Given the description of an element on the screen output the (x, y) to click on. 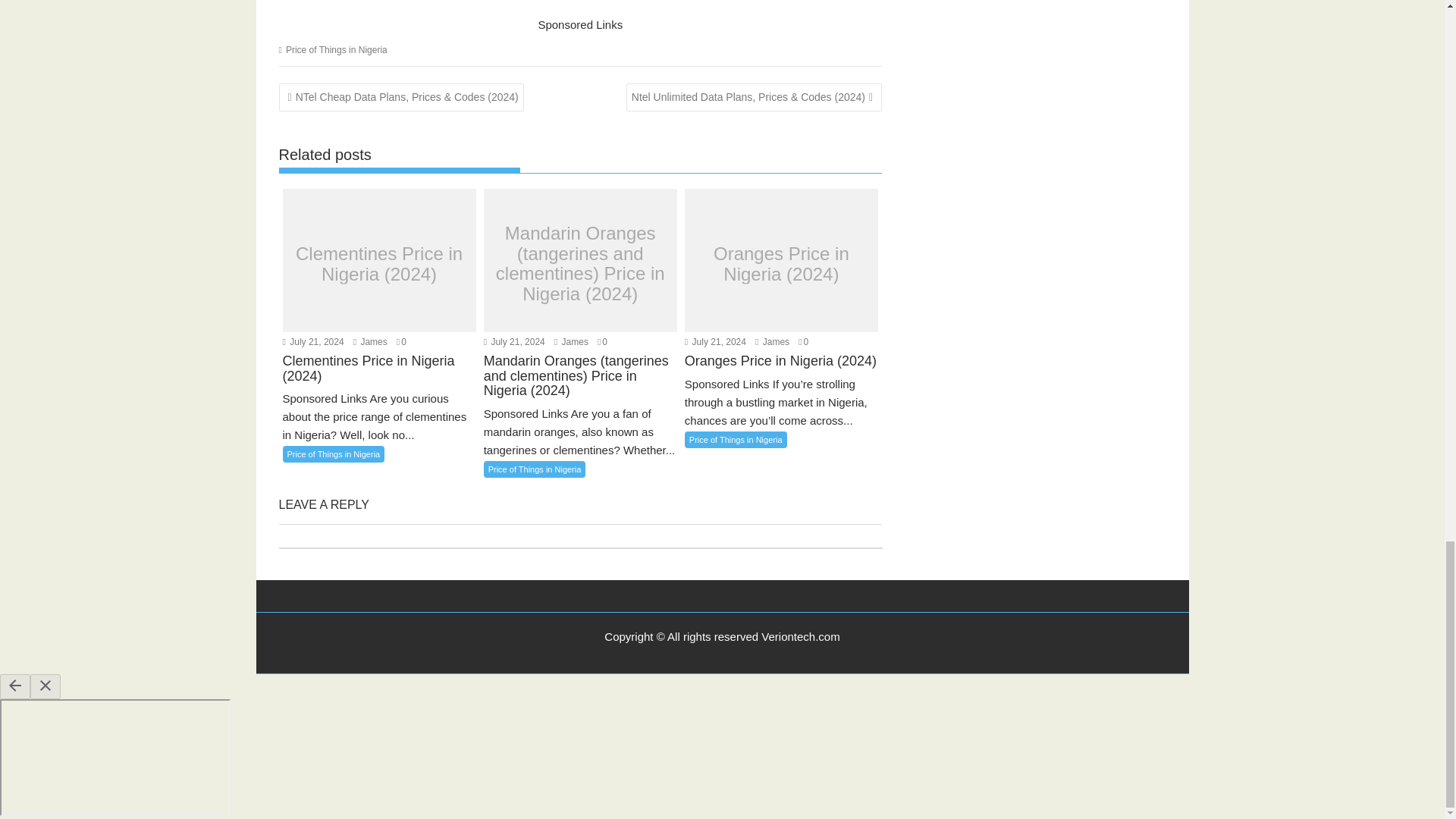
0 (401, 341)
James (370, 341)
Price of Things in Nigeria (336, 49)
July 21, 2024 (312, 341)
